Given the description of an element on the screen output the (x, y) to click on. 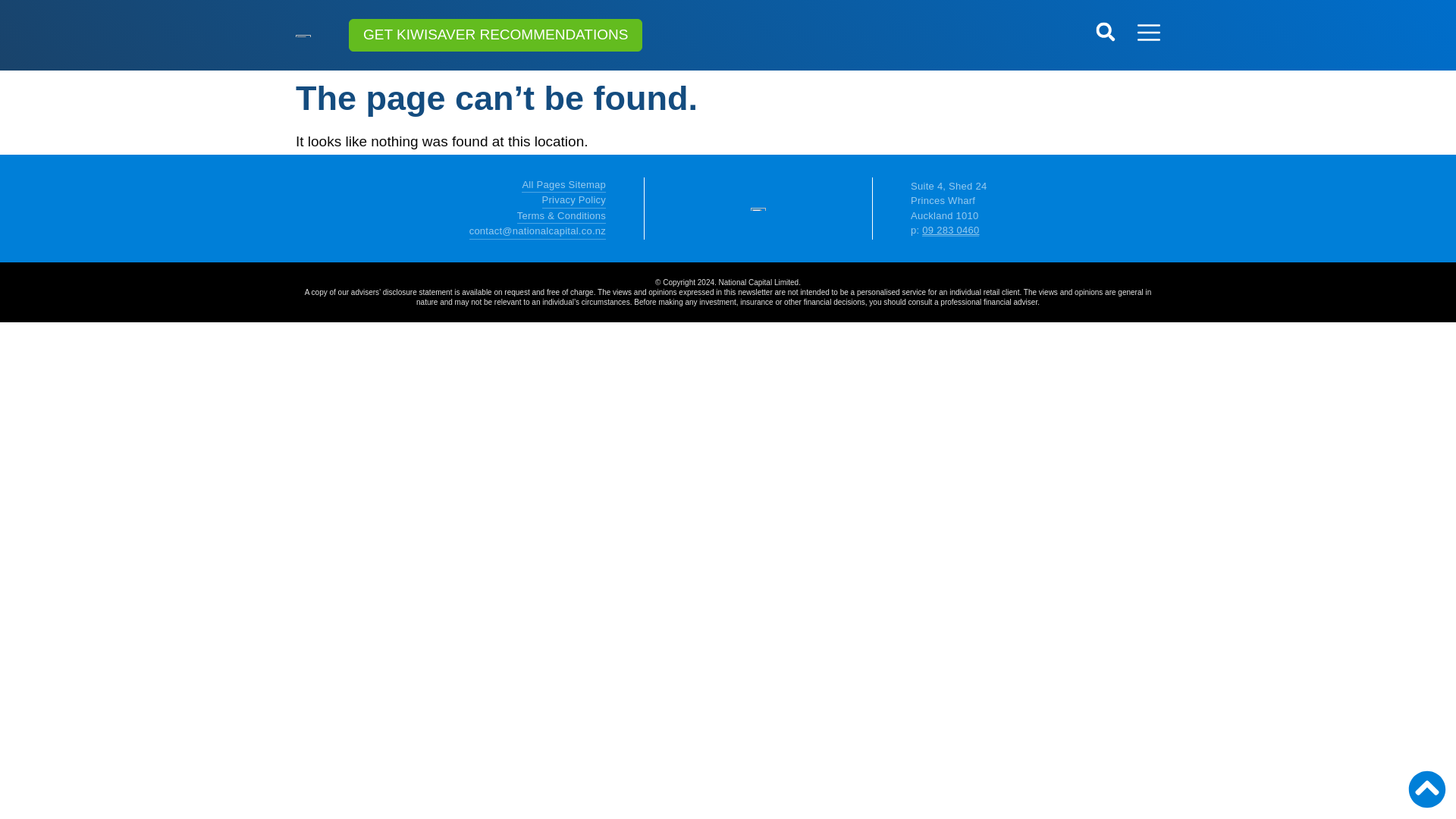
09 283 0460 (949, 230)
GET KIWISAVER RECOMMENDATIONS (495, 34)
Privacy Policy (536, 200)
All Pages Sitemap (536, 185)
